Given the description of an element on the screen output the (x, y) to click on. 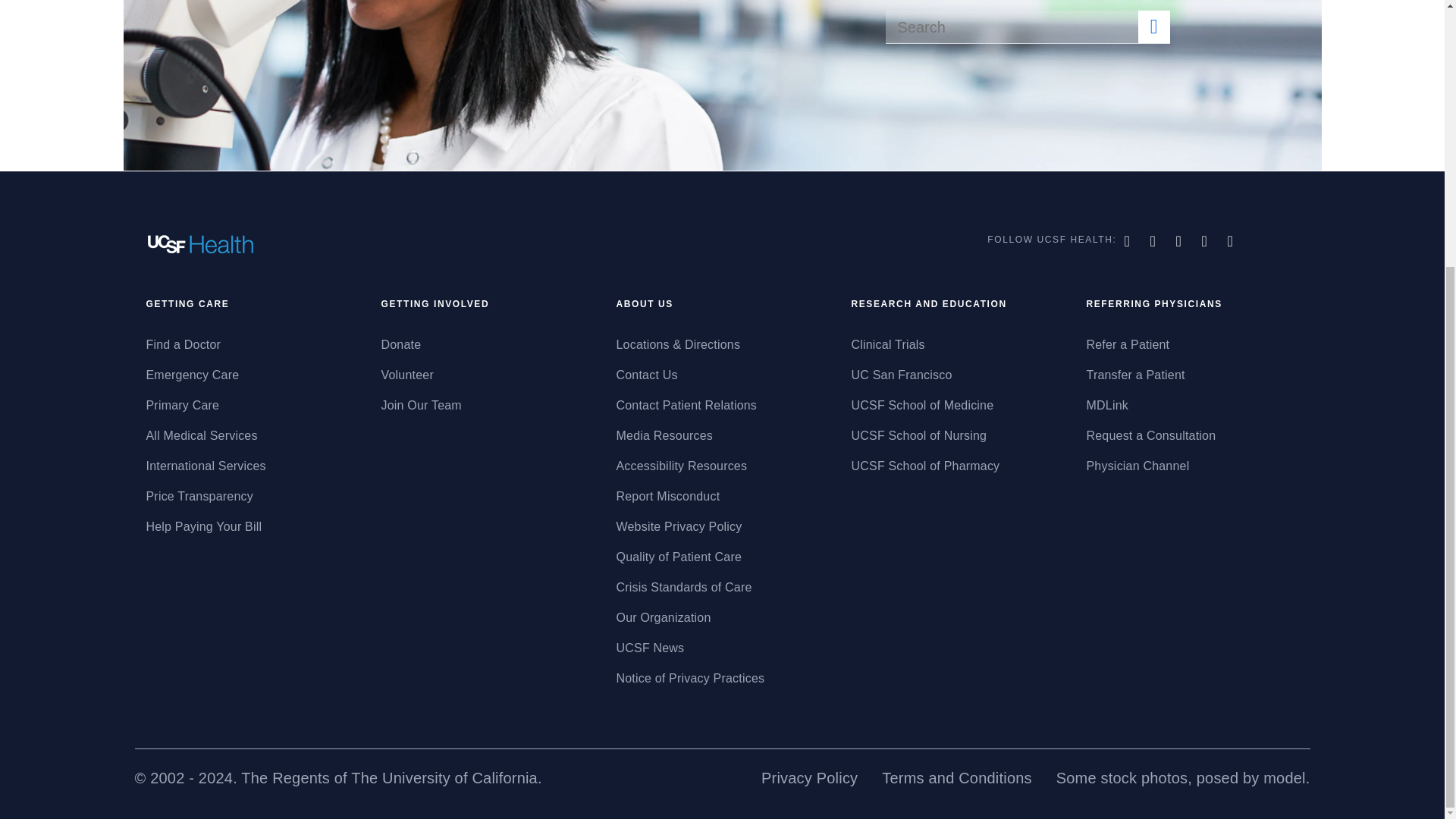
Quality of Patient Care (721, 556)
UCSF School of Medicine (956, 405)
UC San Francisco (956, 375)
Emergency Care (251, 375)
Linkedin (1232, 240)
Facebook (1128, 240)
Volunteer (486, 375)
Instagram (1206, 240)
Refer a Patient (1192, 344)
X (1154, 240)
